Given the description of an element on the screen output the (x, y) to click on. 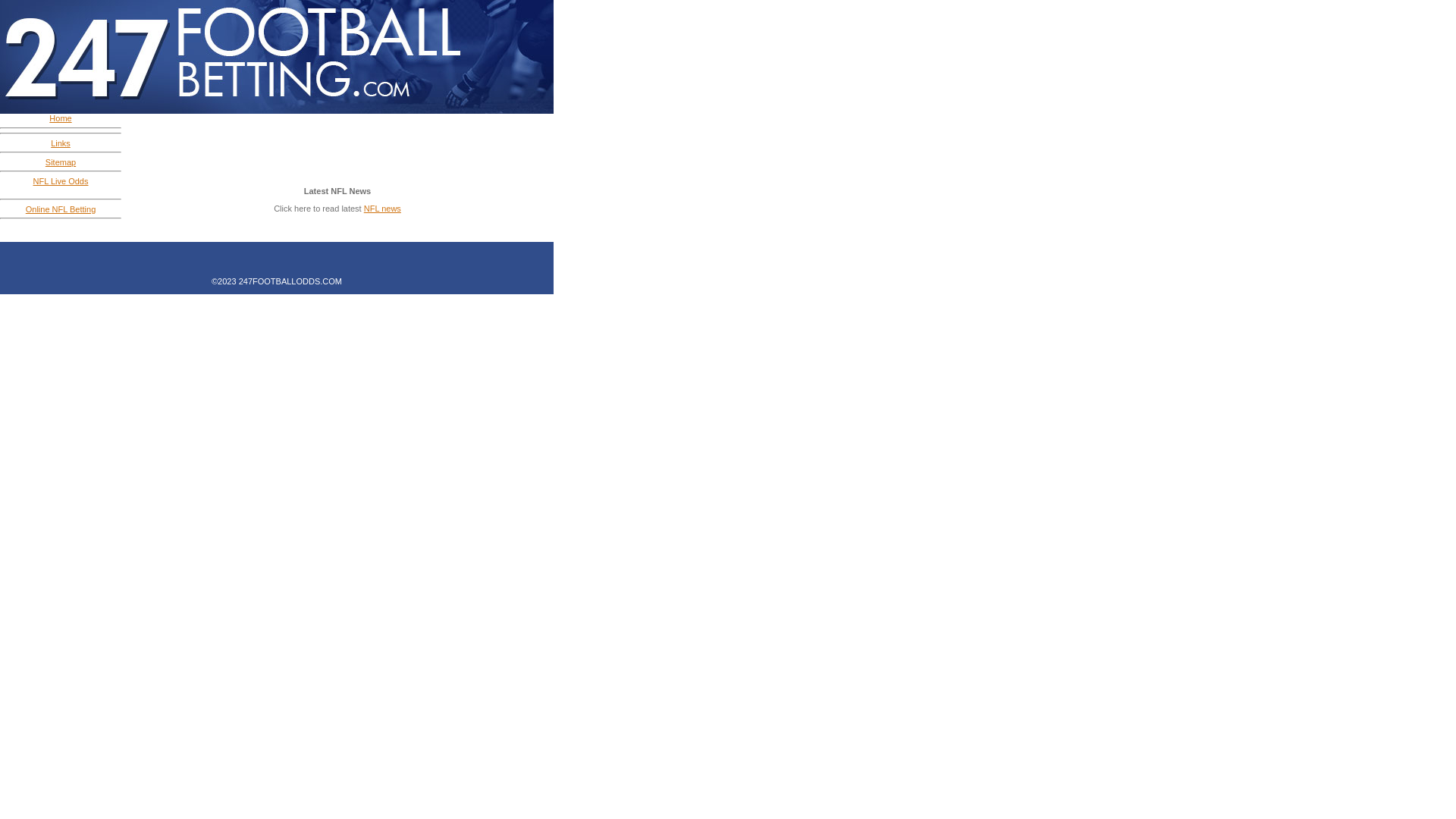
Sitemap Element type: text (60, 161)
Home Element type: text (60, 117)
Links Element type: text (60, 142)
Online NFL Betting Element type: text (60, 208)
NFL news Element type: text (382, 208)
NFL Live Odds Element type: text (60, 180)
